Given the description of an element on the screen output the (x, y) to click on. 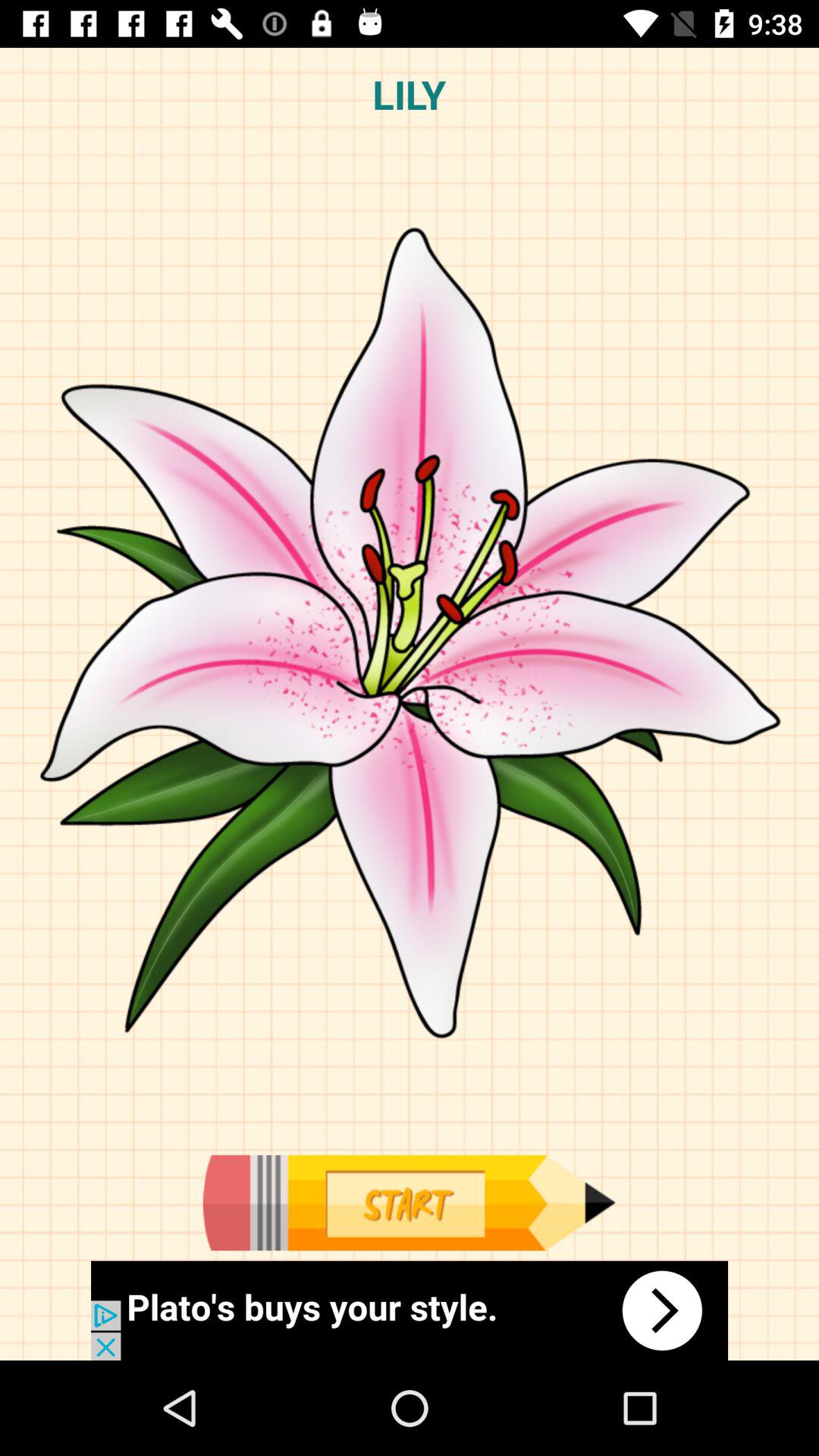
click to start drawing (409, 1202)
